Given the description of an element on the screen output the (x, y) to click on. 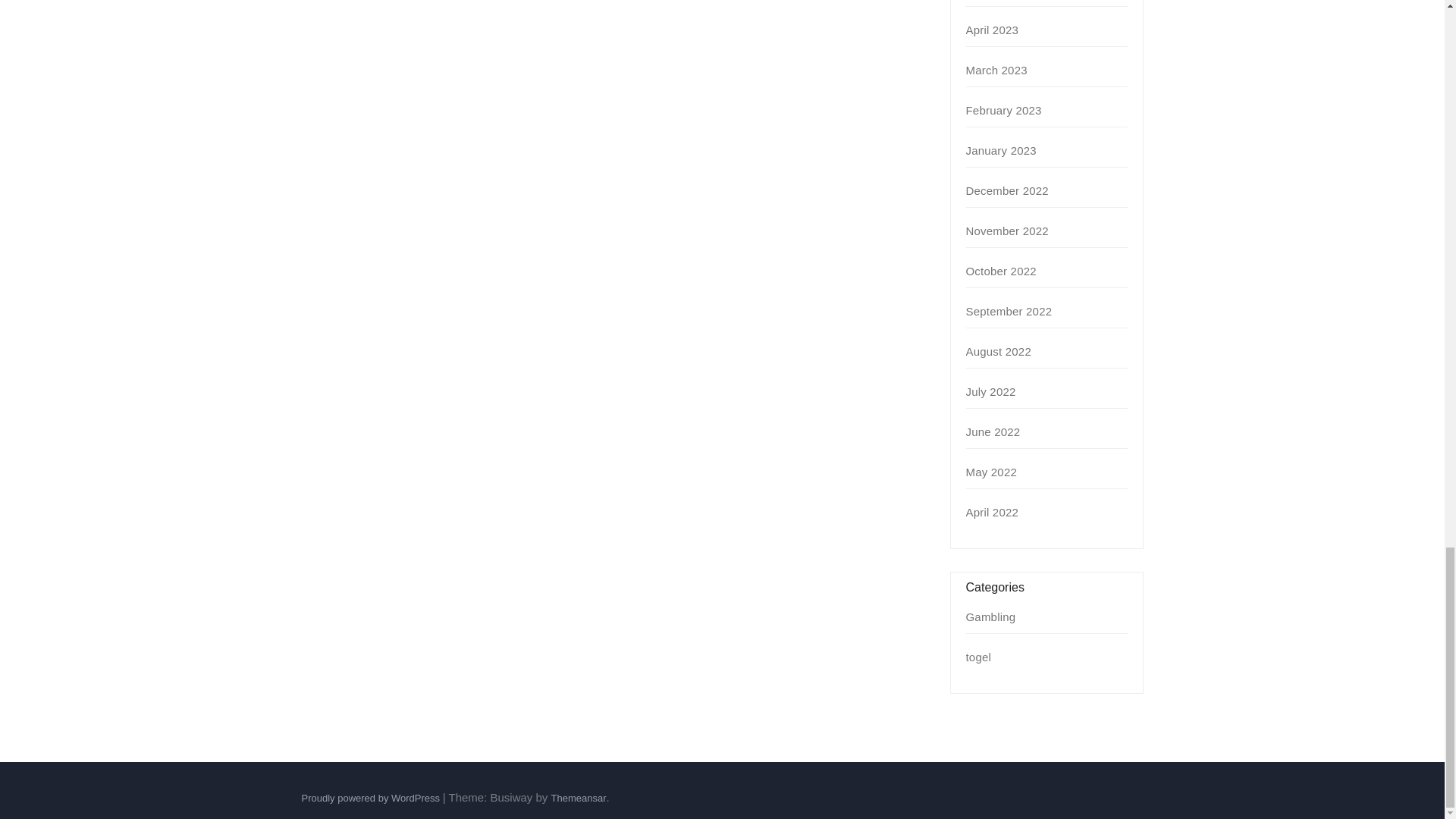
February 2023 (1004, 110)
April 2023 (992, 29)
March 2023 (996, 69)
